Given the description of an element on the screen output the (x, y) to click on. 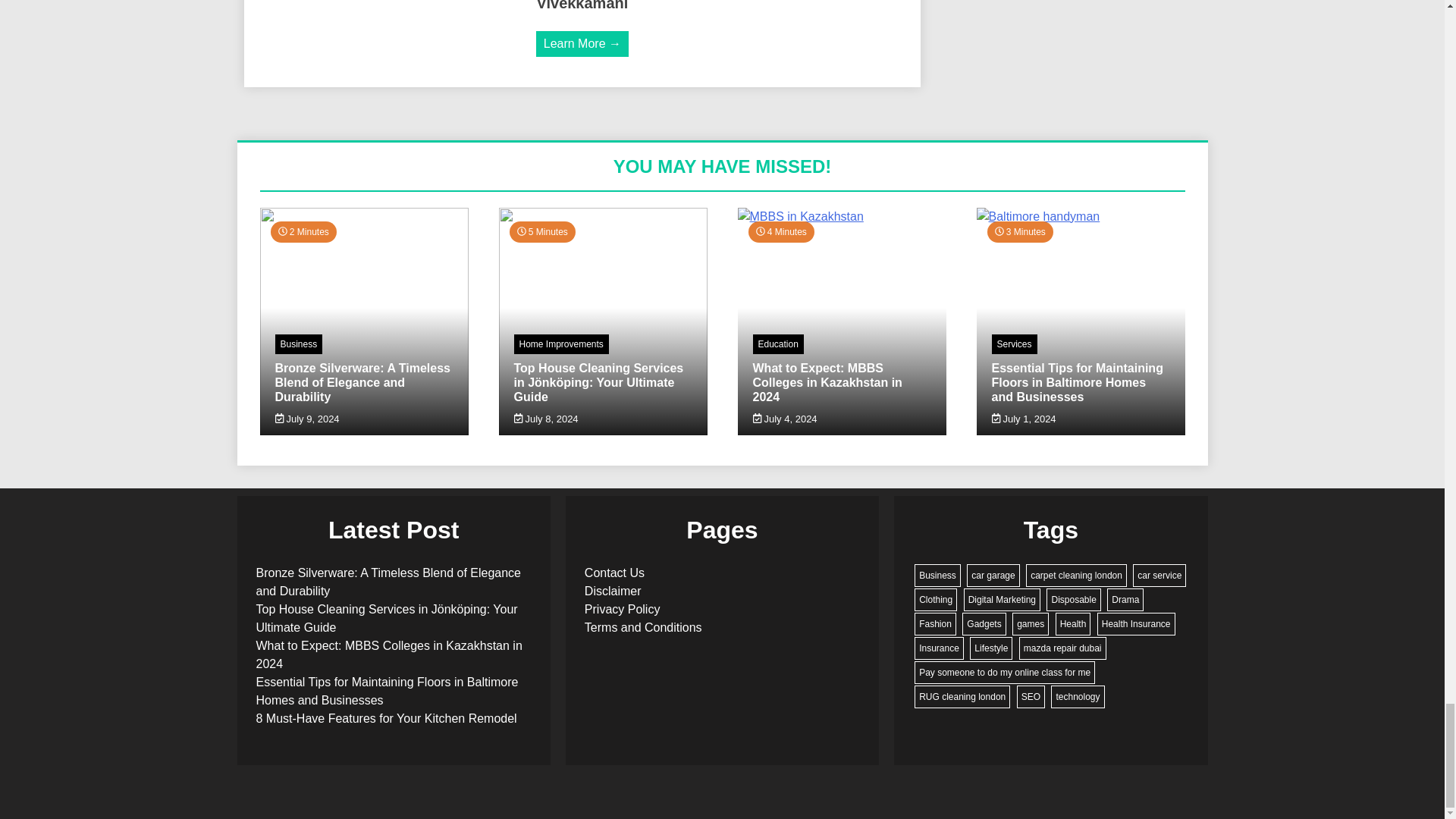
Estimated Reading Time of Article (780, 231)
Estimated Reading Time of Article (302, 231)
Estimated Reading Time of Article (1019, 231)
Estimated Reading Time of Article (542, 231)
